Given the description of an element on the screen output the (x, y) to click on. 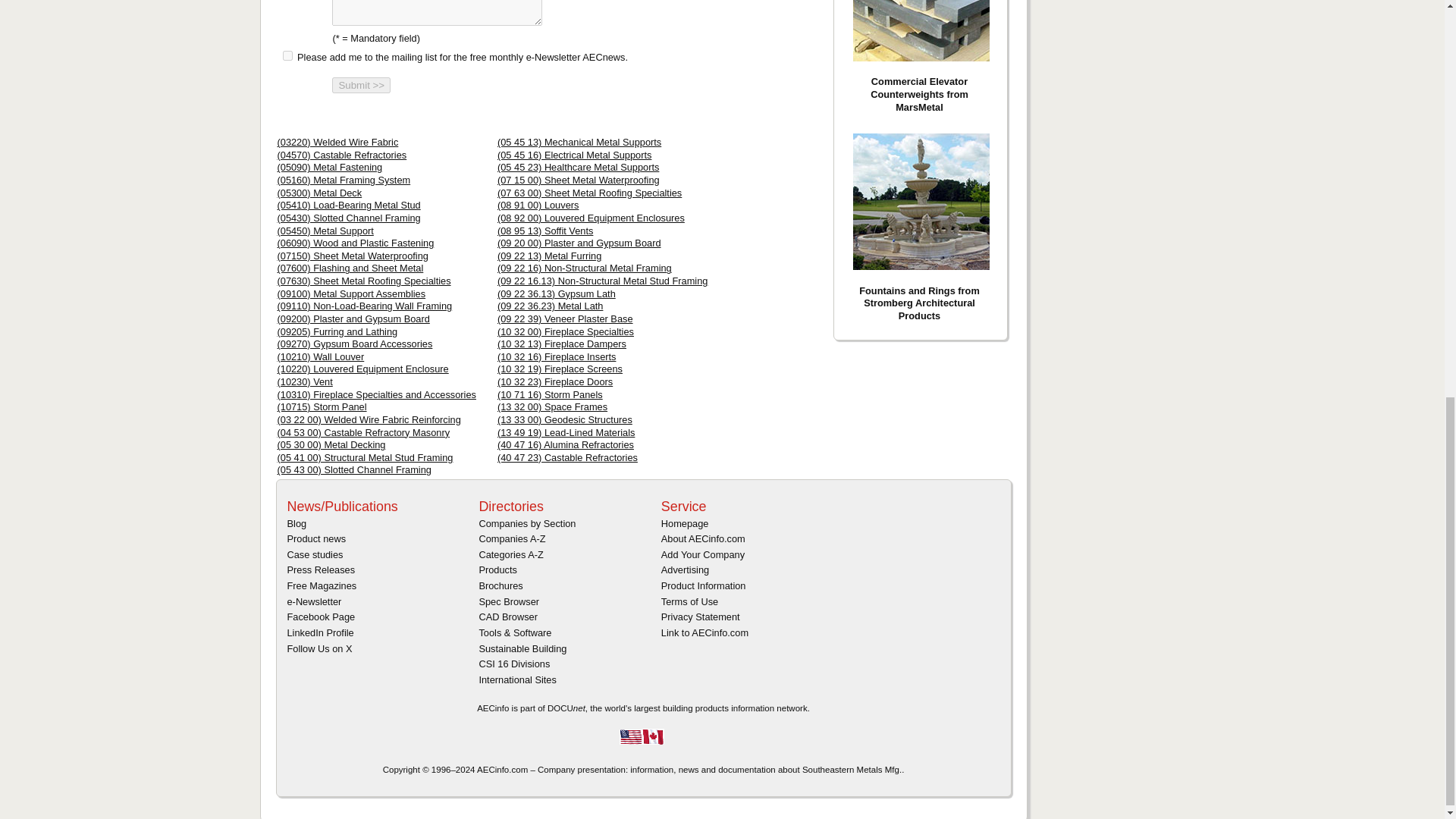
Fountains and Rings from Stromberg Architectural Products (919, 201)
true (287, 55)
Commercial Elevator Counterweights from MarsMetal (919, 30)
